Given the description of an element on the screen output the (x, y) to click on. 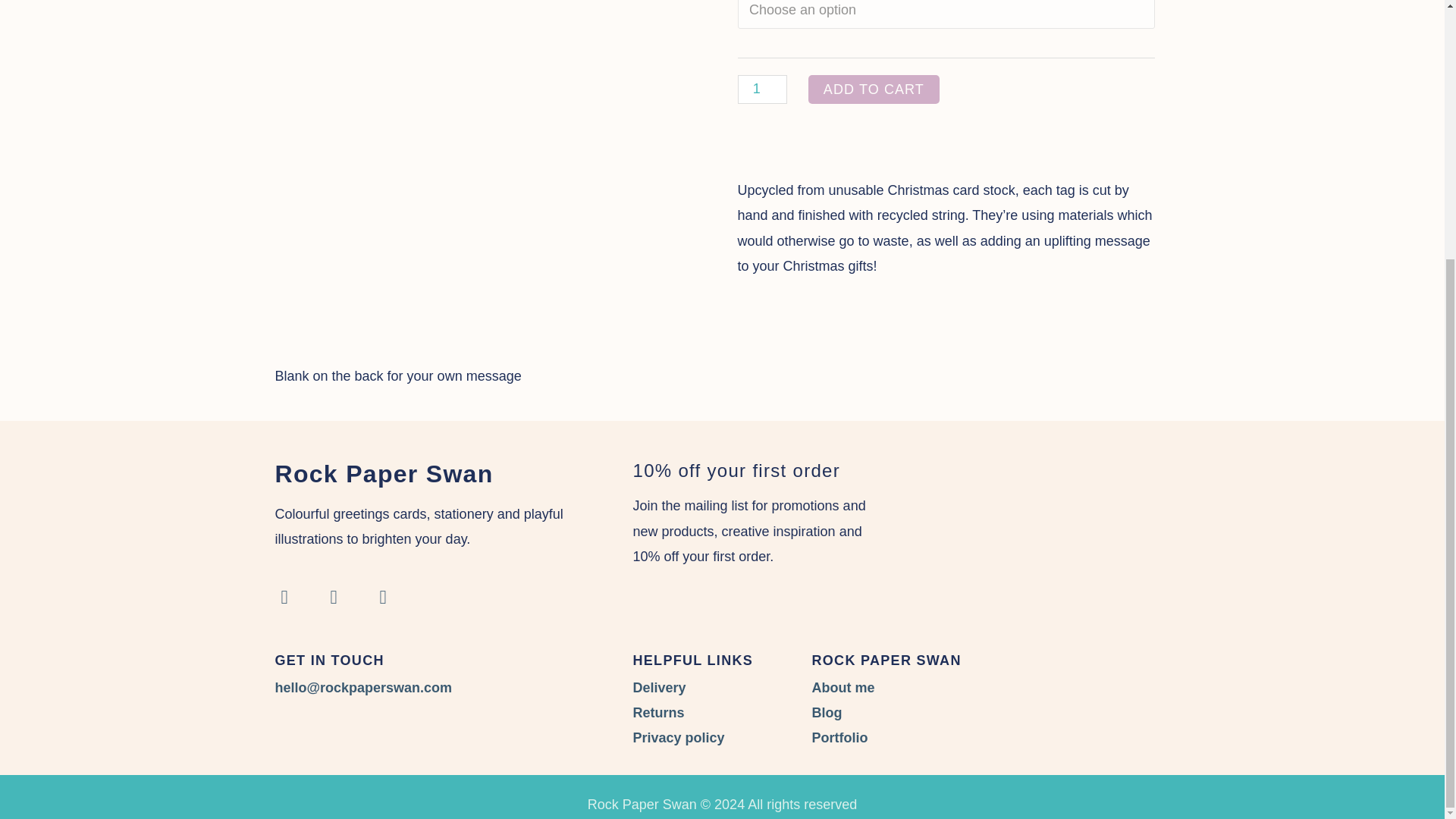
1 (761, 89)
